Given the description of an element on the screen output the (x, y) to click on. 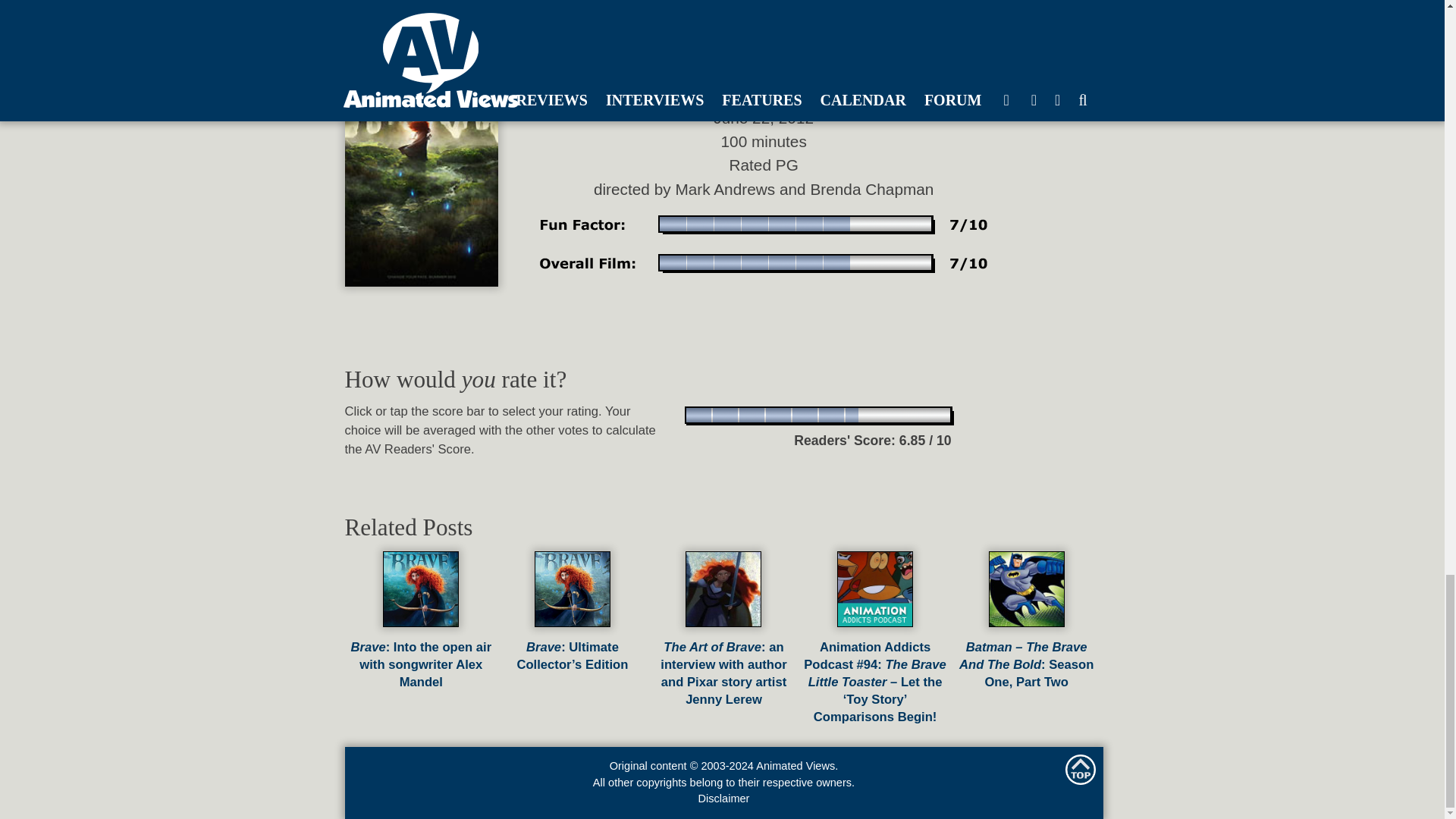
Brave: Into the open air with songwriter Alex Mandel (421, 654)
Disclaimer (723, 798)
Brave: Into the open air with songwriter Alex Mandel (421, 654)
